Given the description of an element on the screen output the (x, y) to click on. 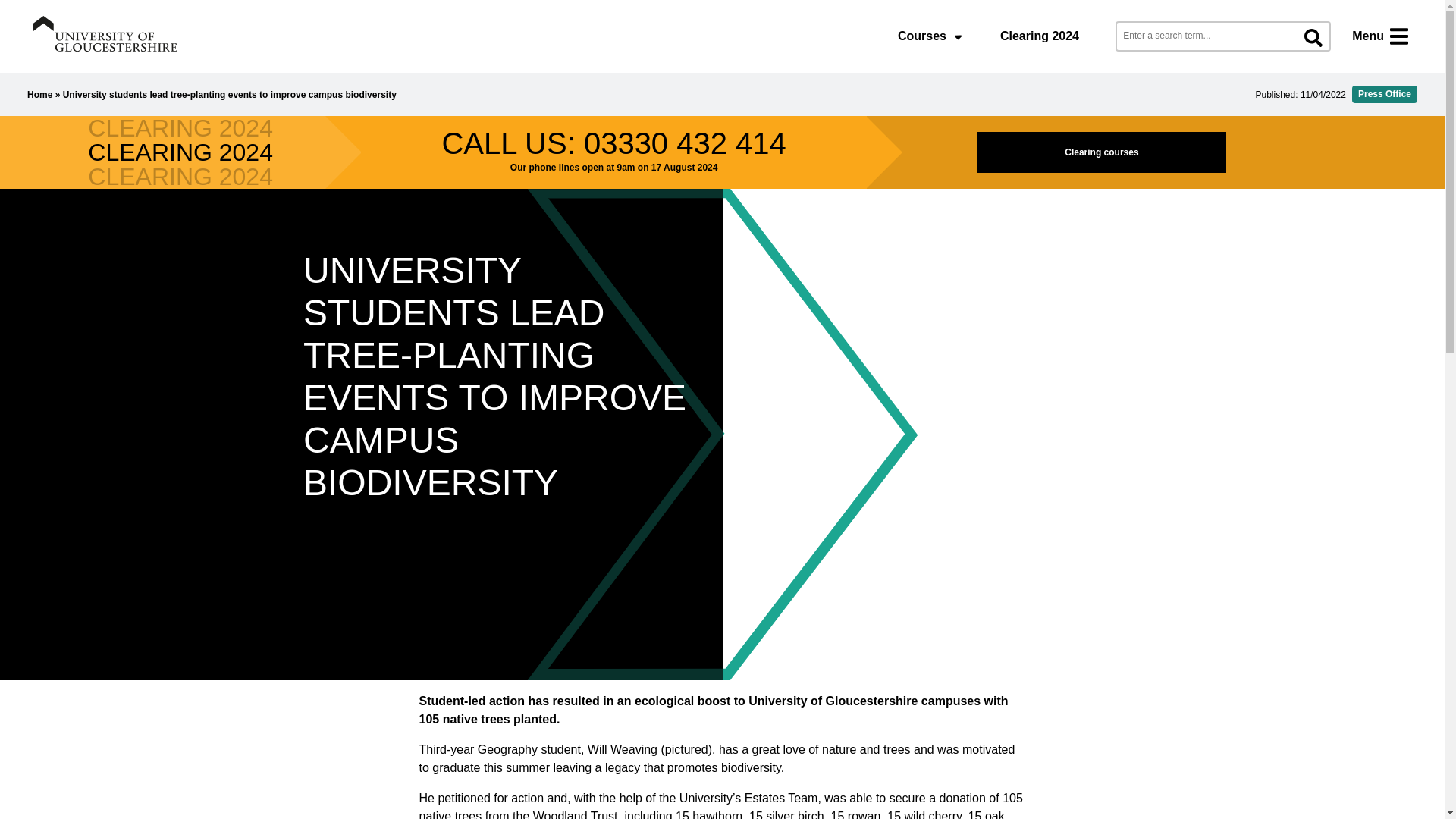
Clearing 2024 (1039, 36)
Visit the homepage (105, 33)
Visit the homepage (105, 35)
on (7, 7)
on (1404, 7)
on (7, 7)
